Given the description of an element on the screen output the (x, y) to click on. 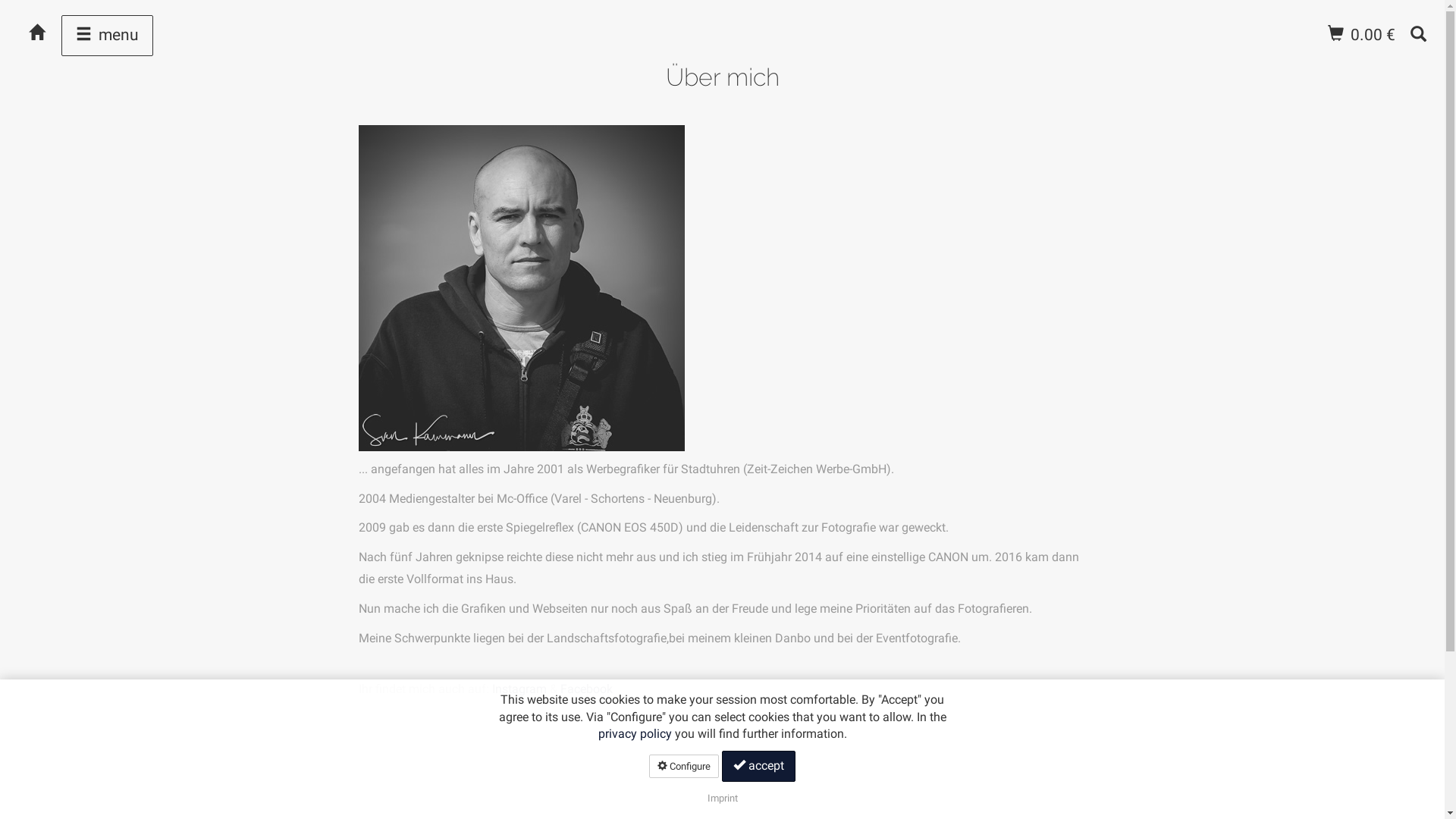
Configure Element type: text (683, 766)
Imprint Element type: text (721, 797)
Sven Kammann Element type: hover (520, 288)
Instagram Element type: text (518, 688)
accept Element type: text (758, 765)
menu Element type: text (107, 35)
privacy policy Element type: text (634, 733)
Facebook Element type: text (585, 688)
